Given the description of an element on the screen output the (x, y) to click on. 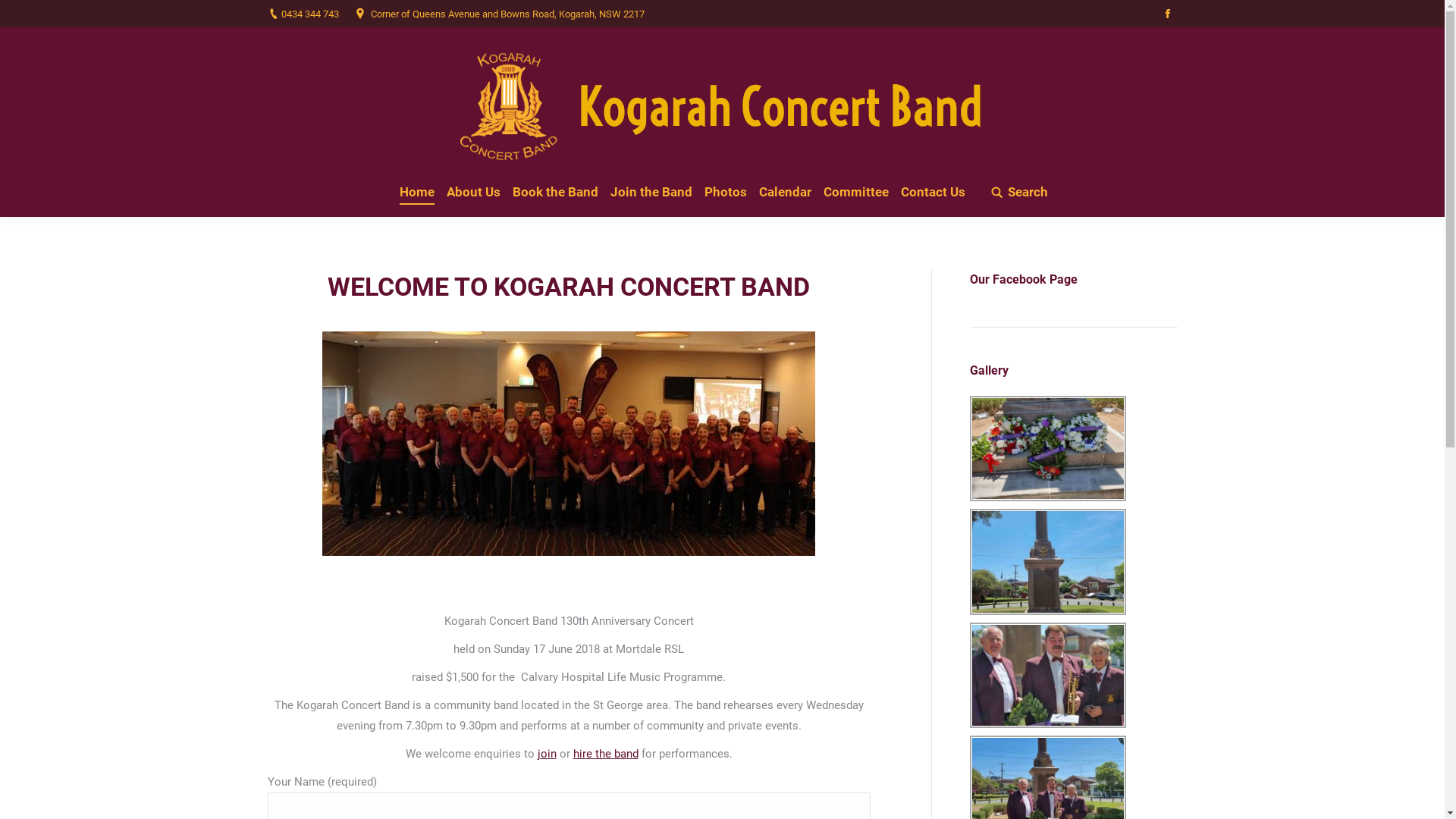
hire the band Element type: text (605, 753)
Go! Element type: text (21, 14)
Photos Element type: text (725, 192)
Remembrance-Day-2023-.jpg3_.jpg-5 Element type: hover (1047, 675)
join Element type: text (545, 753)
Corner of Queens Avenue and Bowns Road, Kogarah, NSW 2217 Element type: text (506, 12)
Contact Us Element type: text (932, 192)
Home Element type: text (416, 192)
About Us Element type: text (473, 192)
Committee Element type: text (855, 192)
Book the Band Element type: text (555, 192)
Remembrance-Day-2023-.jpg5_ Element type: hover (1047, 448)
Search Element type: text (1019, 191)
Calendar Element type: text (785, 192)
Remembrance-Day-2023-.jpg3_.jpg2_ Element type: hover (1047, 561)
Join the Band Element type: text (651, 192)
Facebook Element type: text (1166, 13)
